Given the description of an element on the screen output the (x, y) to click on. 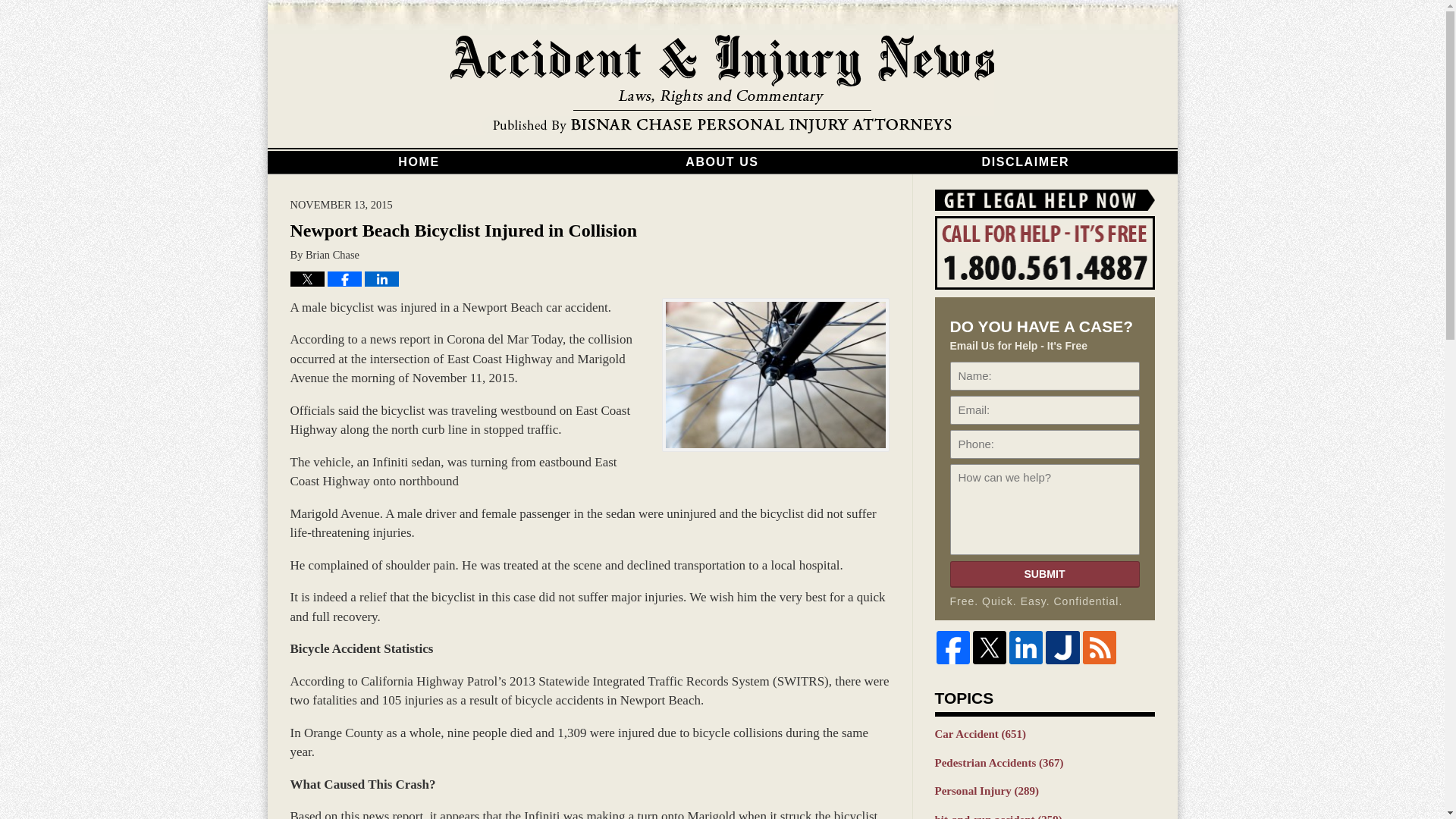
HOME (418, 161)
Facebook (952, 647)
Twitter (989, 647)
SUBMIT (1043, 574)
DISCLAIMER (1024, 161)
California Injury Blog (721, 84)
ABOUT US (721, 161)
Justia (1061, 647)
LinkedIn (1025, 647)
Please enter a valid phone number. (1043, 443)
Feed (1099, 647)
